Given the description of an element on the screen output the (x, y) to click on. 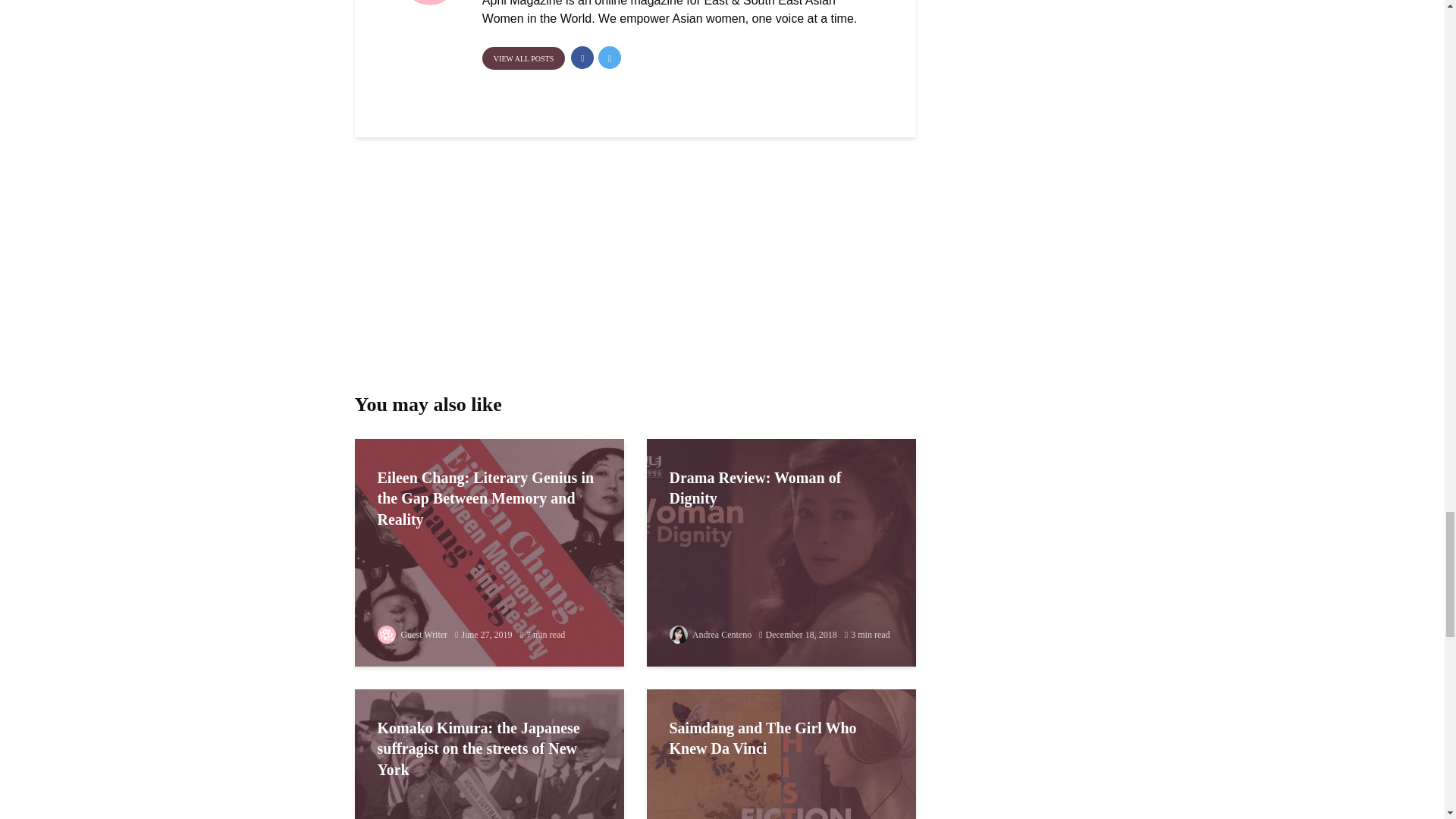
Drama Review: Woman of Dignity (780, 551)
Saimdang and The Girl Who Knew Da Vinci (780, 801)
